Given the description of an element on the screen output the (x, y) to click on. 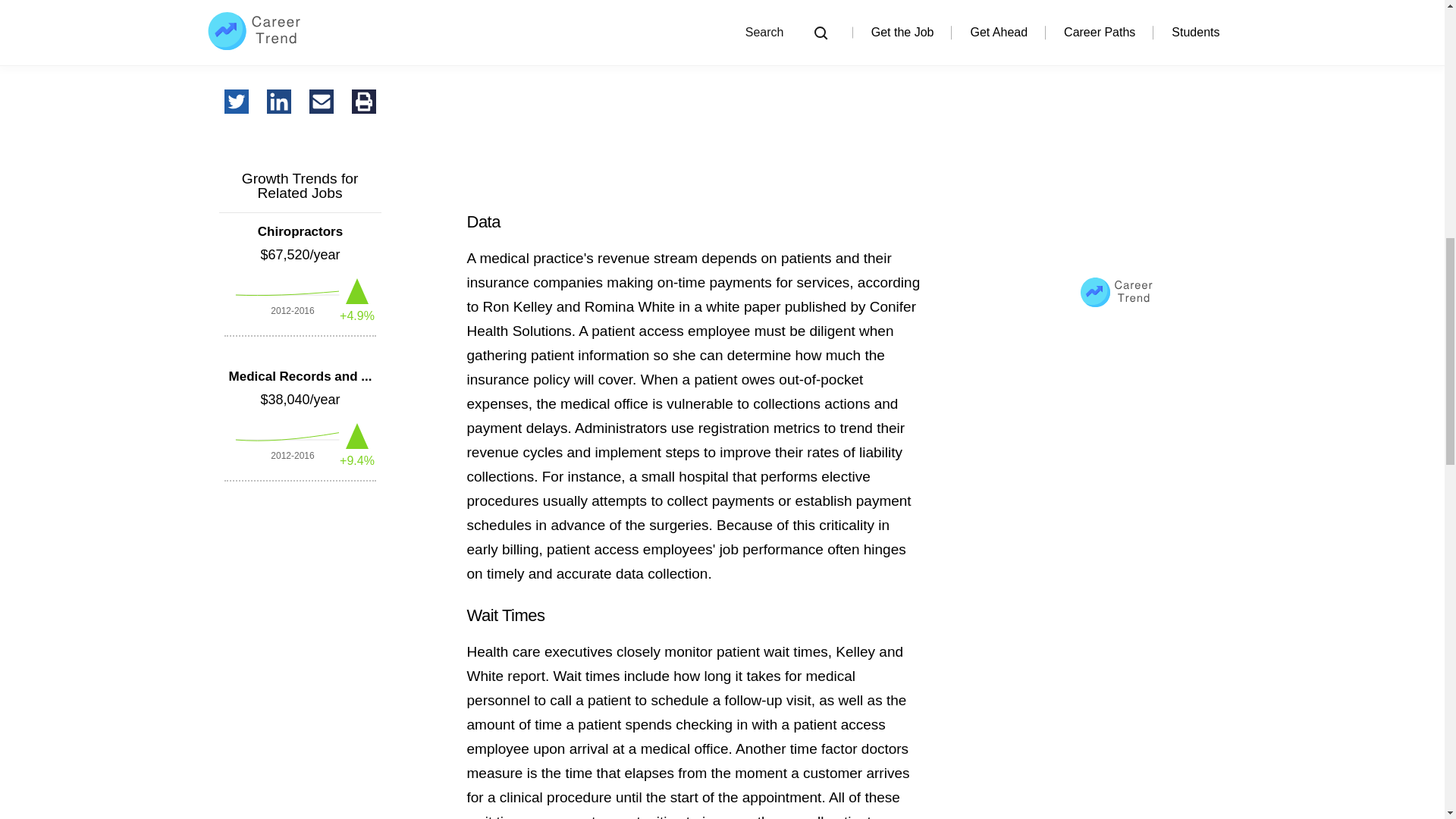
Advertisement (693, 96)
